Given the description of an element on the screen output the (x, y) to click on. 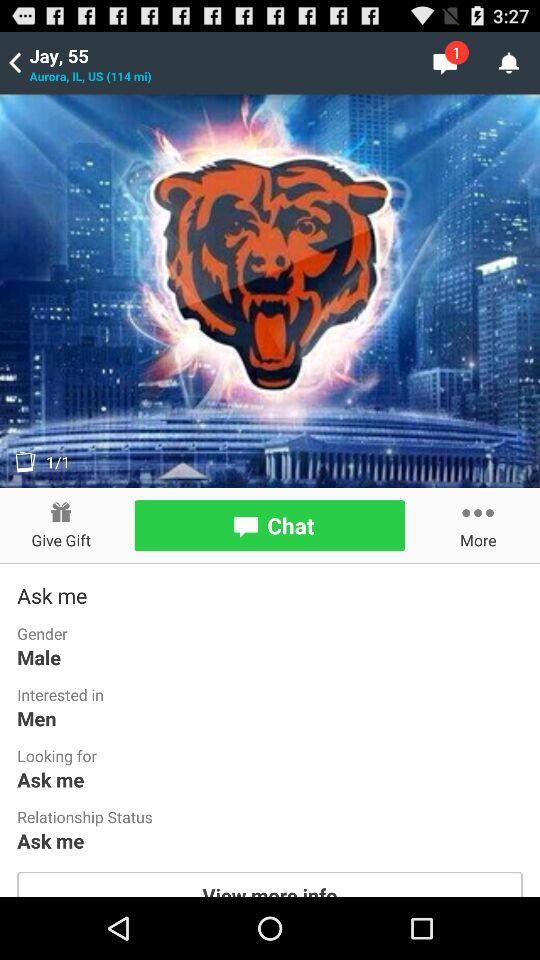
open the item below the ask me (269, 883)
